Given the description of an element on the screen output the (x, y) to click on. 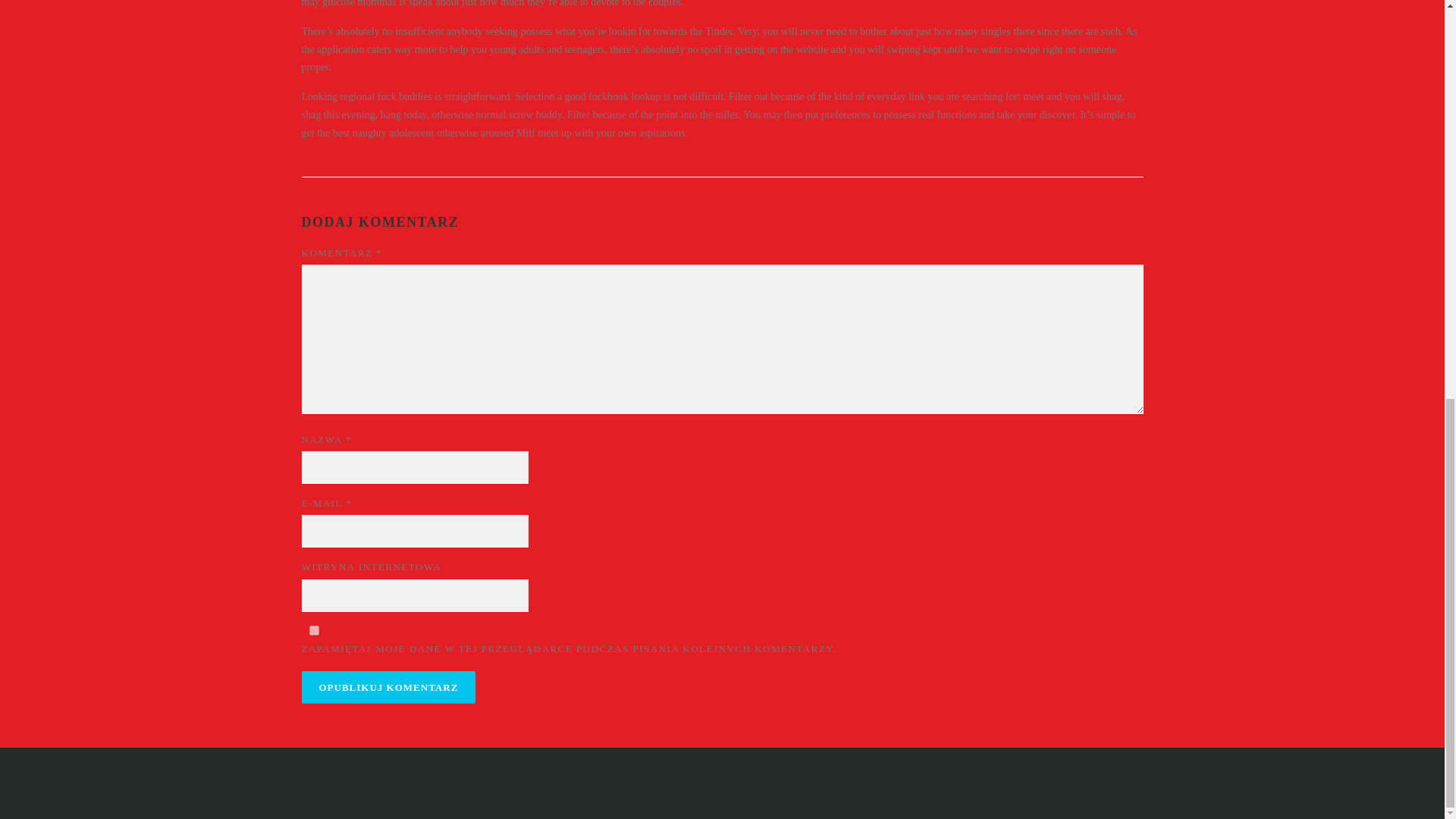
Opublikuj komentarz (388, 686)
yes (313, 630)
Opublikuj komentarz (388, 686)
OnePress (753, 782)
